Given the description of an element on the screen output the (x, y) to click on. 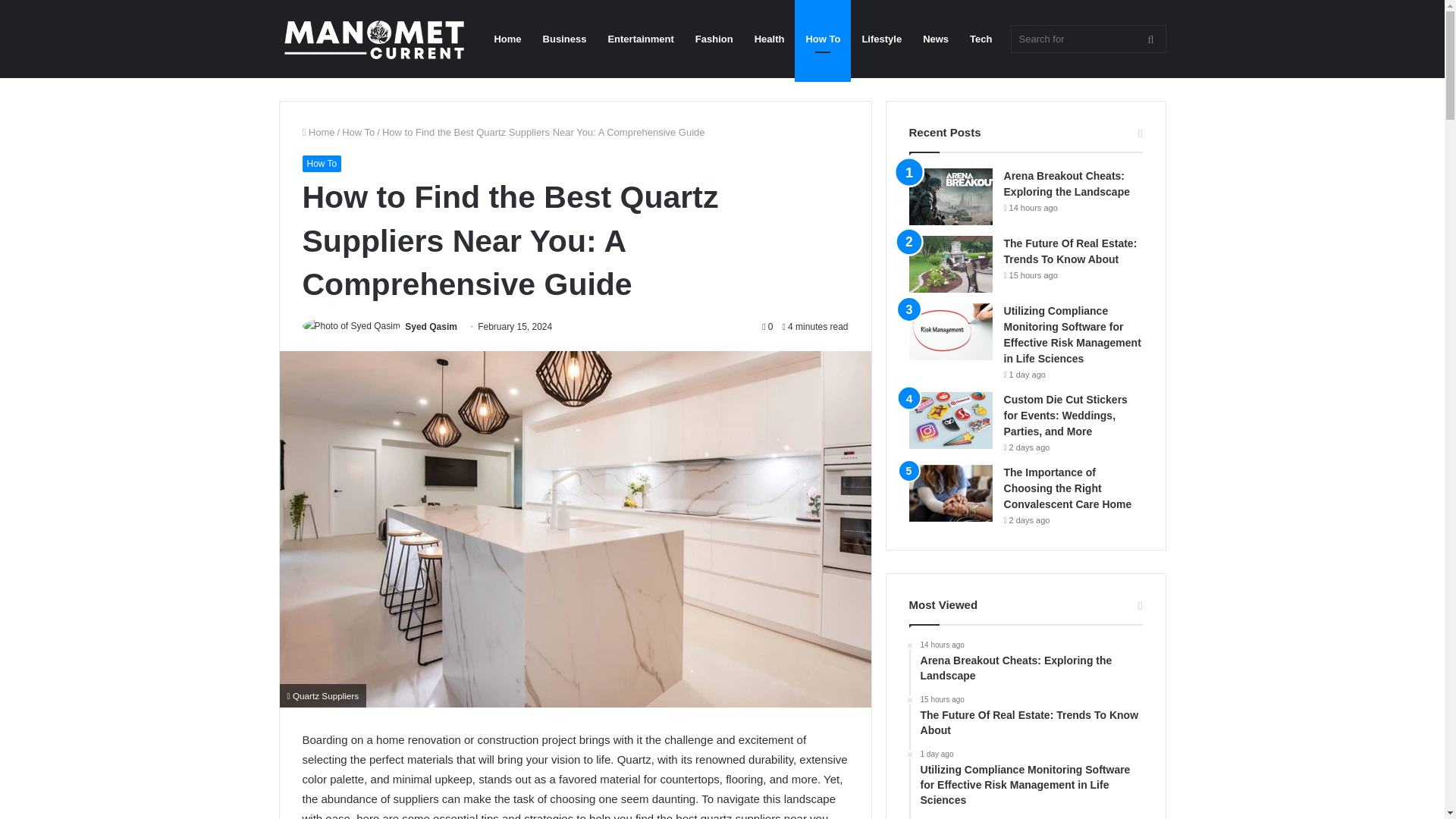
How To (320, 163)
Syed Qasim (430, 326)
Home (317, 132)
Manometcurrent (373, 39)
Entertainment (640, 38)
Arena Breakout Cheats: Exploring the Landscape (1066, 183)
How To (358, 132)
Search for (1088, 39)
